Given the description of an element on the screen output the (x, y) to click on. 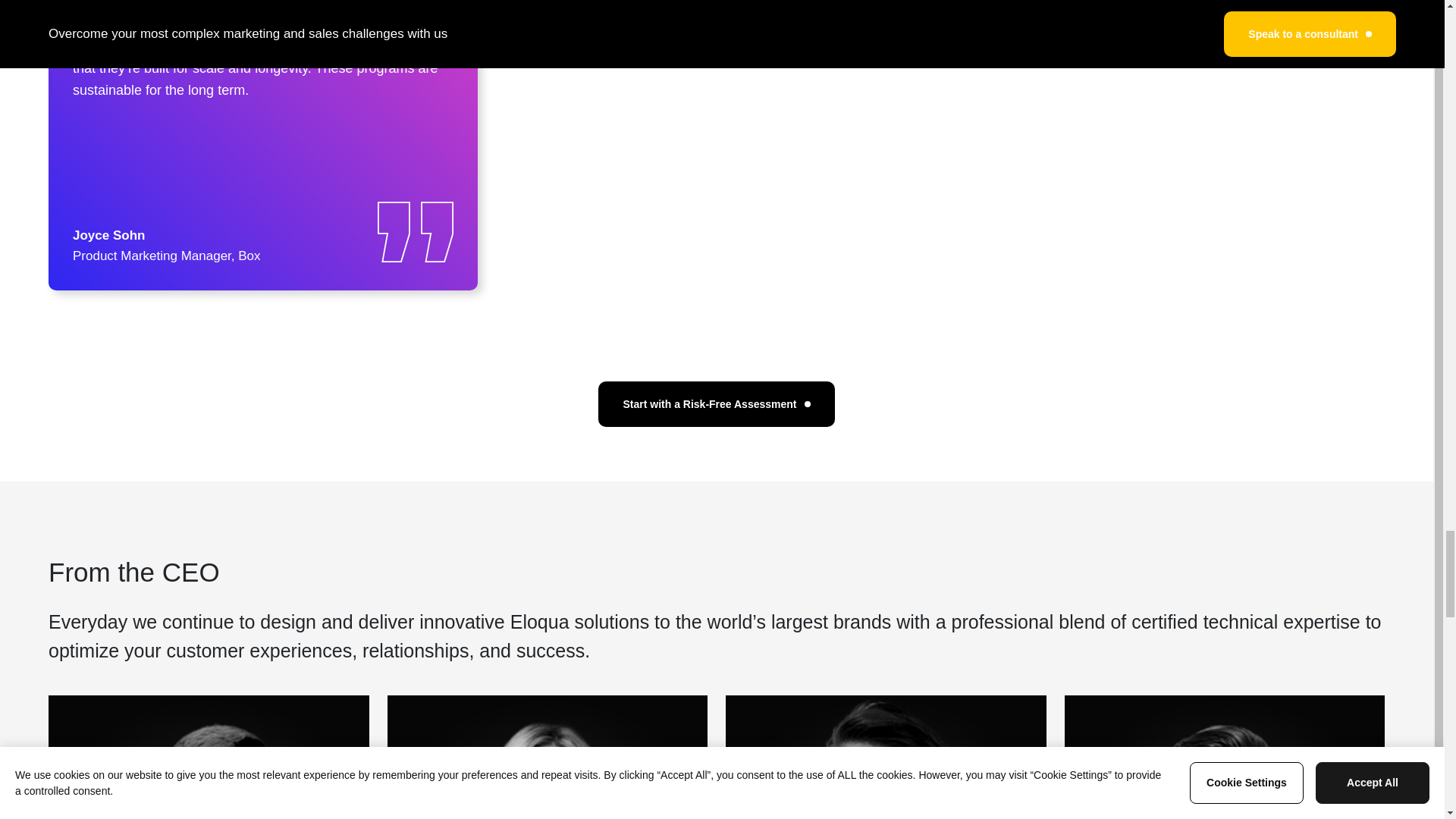
Start with a Risk-Free Assessment (716, 403)
